Given the description of an element on the screen output the (x, y) to click on. 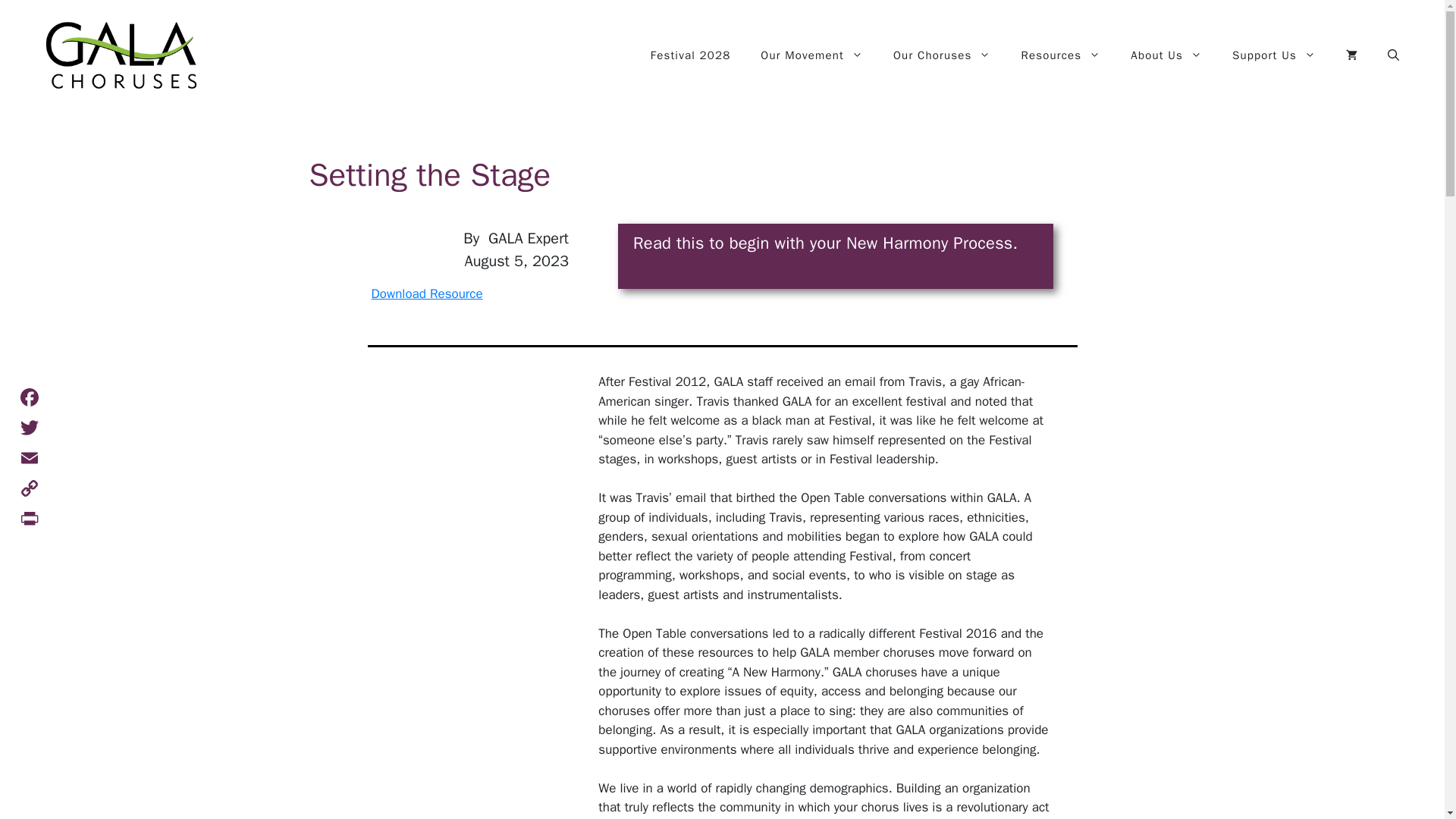
About Us (1166, 54)
Resources (1060, 54)
Our Movement (811, 54)
Our Choruses (941, 54)
Download Resource (427, 293)
Festival 2028 (689, 54)
Support Us (1273, 54)
